Given the description of an element on the screen output the (x, y) to click on. 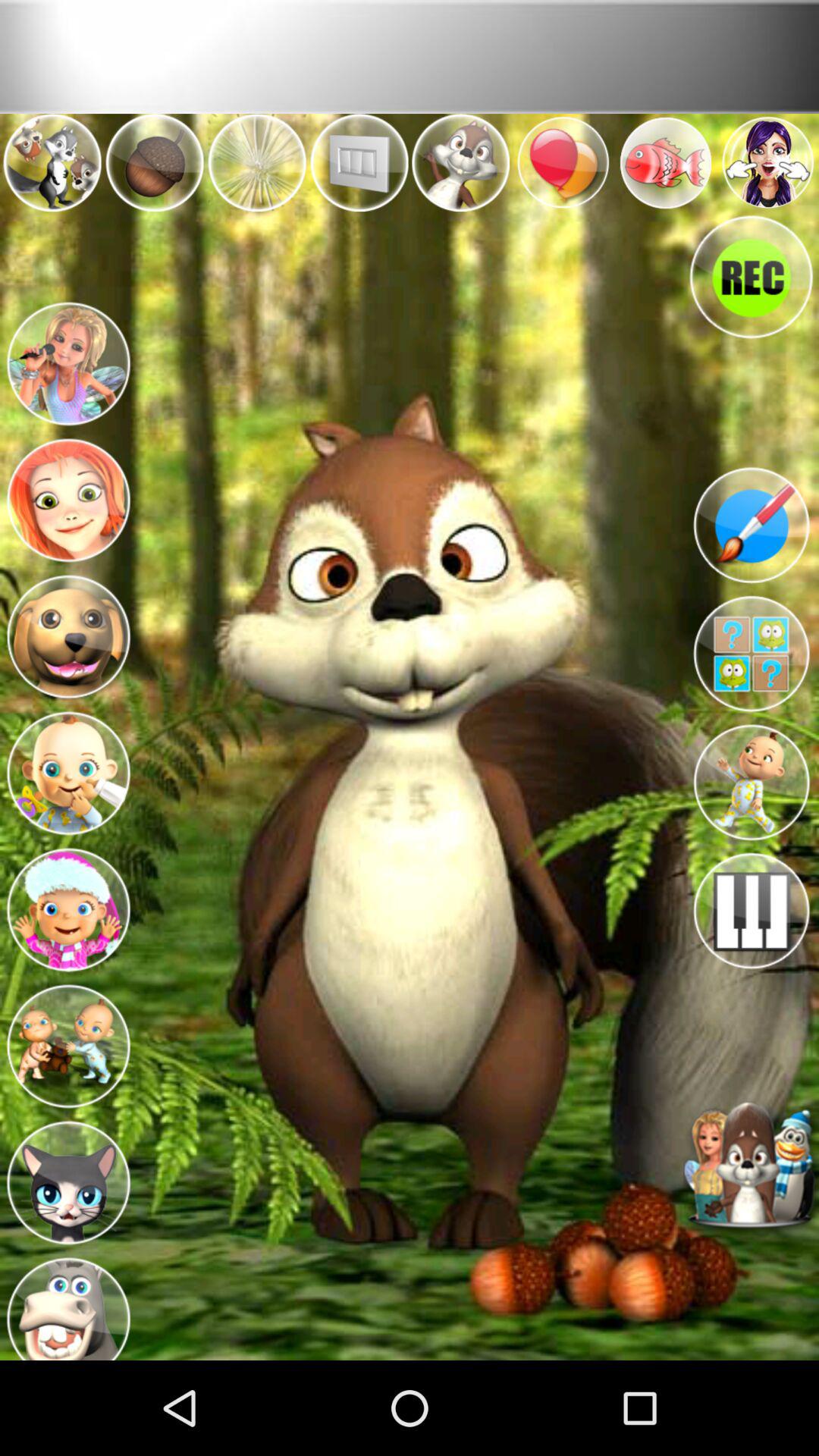
choose a different character (751, 1167)
